Given the description of an element on the screen output the (x, y) to click on. 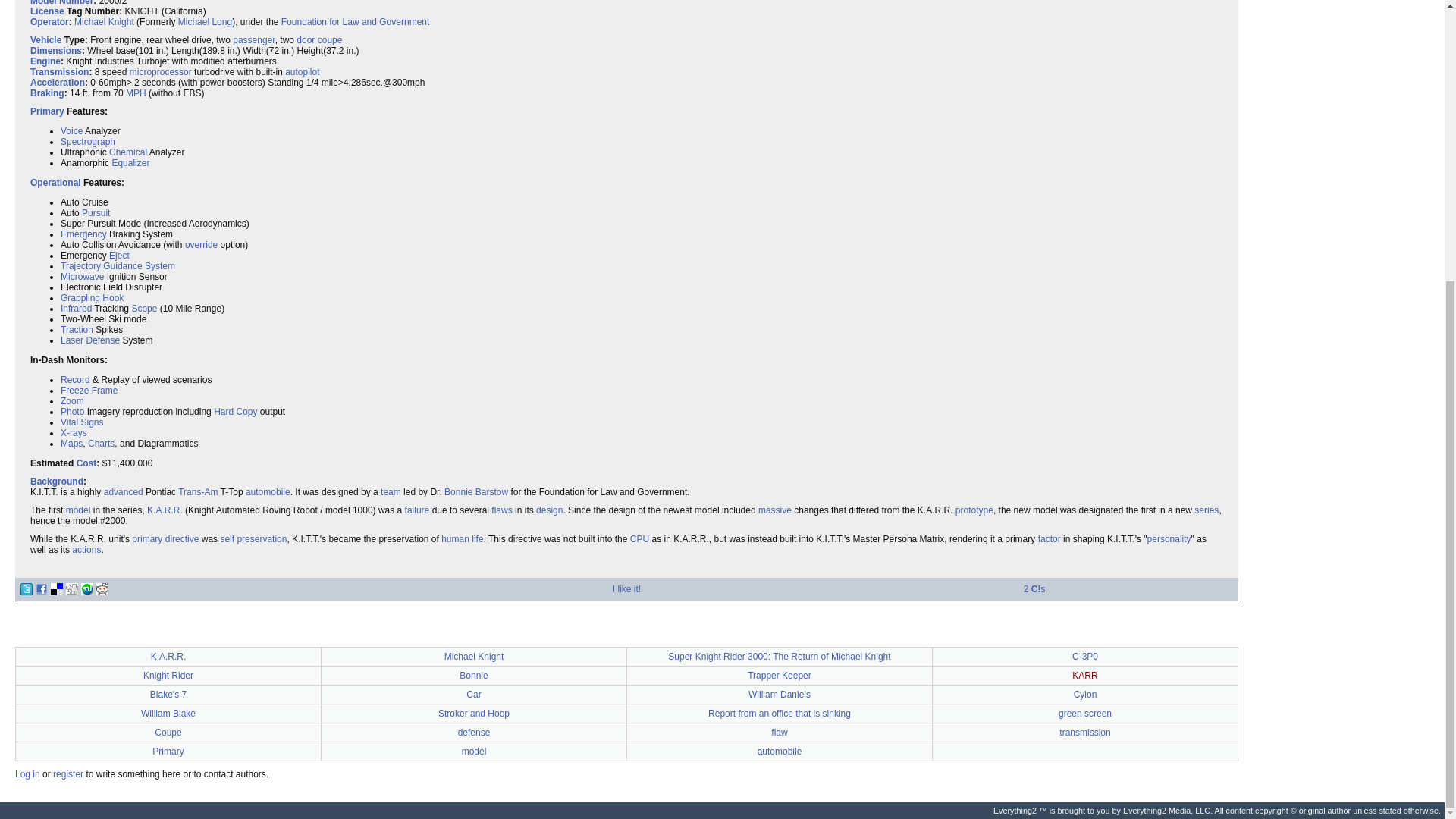
Michael Knight (103, 21)
License (47, 10)
Michael Long (204, 21)
passenger (253, 40)
Vehicle (45, 40)
coupe (329, 40)
Dimensions (55, 50)
Foundation for Law and Government (355, 21)
Model Number (61, 2)
Operator (49, 21)
door (305, 40)
